Given the description of an element on the screen output the (x, y) to click on. 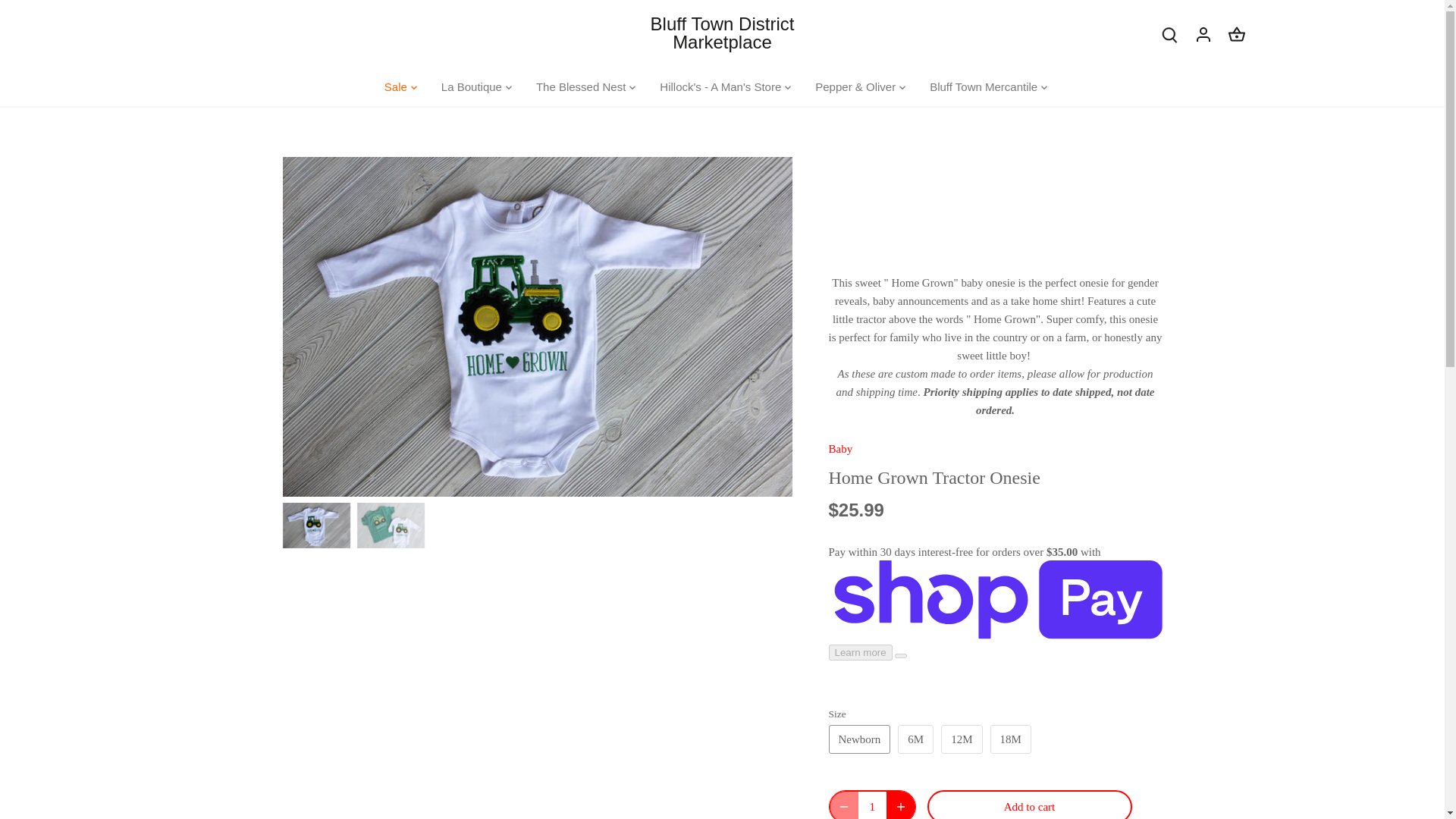
La Boutique (471, 86)
Bluff Town District Marketplace (721, 33)
The Blessed Nest (580, 86)
1 (872, 805)
Sale (401, 86)
